Given the description of an element on the screen output the (x, y) to click on. 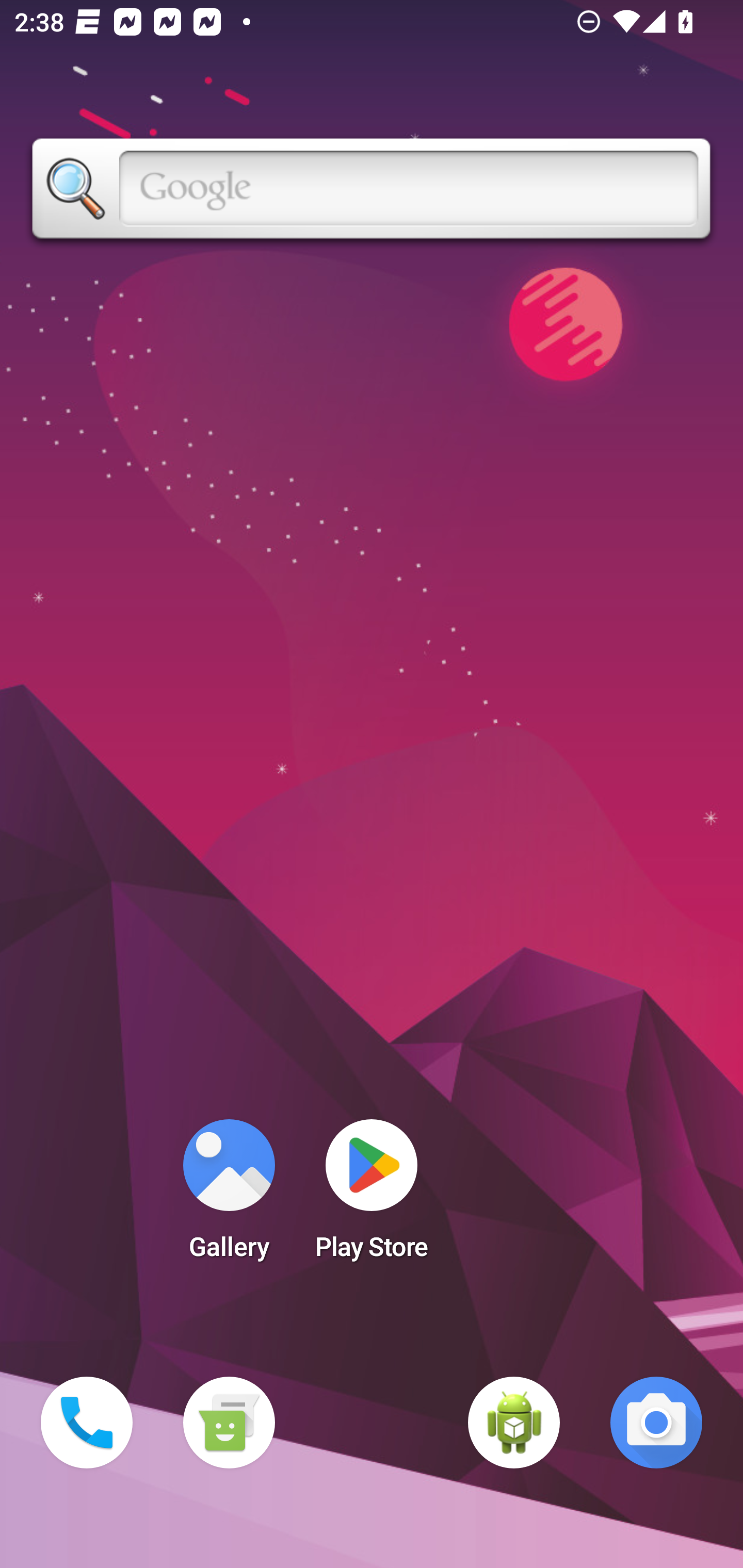
Gallery (228, 1195)
Play Store (371, 1195)
Phone (86, 1422)
Messaging (228, 1422)
WebView Browser Tester (513, 1422)
Camera (656, 1422)
